Given the description of an element on the screen output the (x, y) to click on. 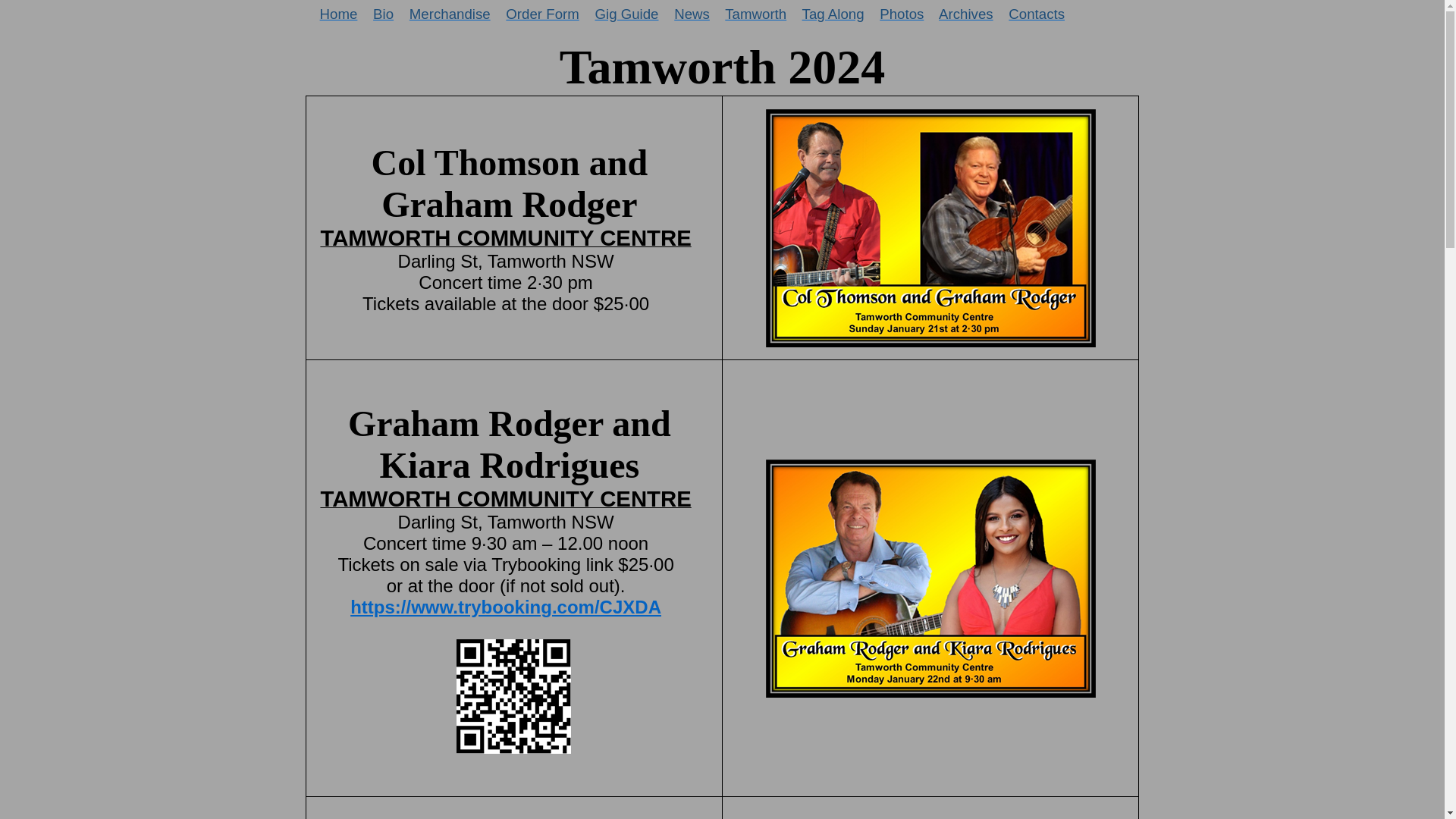
https://www.trybooking.com/CJXDA Element type: text (505, 606)
Archives Element type: text (965, 13)
Contacts Element type: text (1036, 13)
Bio Element type: text (383, 13)
Merchandise Element type: text (449, 13)
Order Form Element type: text (541, 13)
Tag Along Element type: text (833, 13)
Gig Guide Element type: text (626, 13)
News Element type: text (691, 13)
Tamworth Element type: text (755, 13)
Photos Element type: text (901, 13)
Home Element type: text (338, 13)
